Given the description of an element on the screen output the (x, y) to click on. 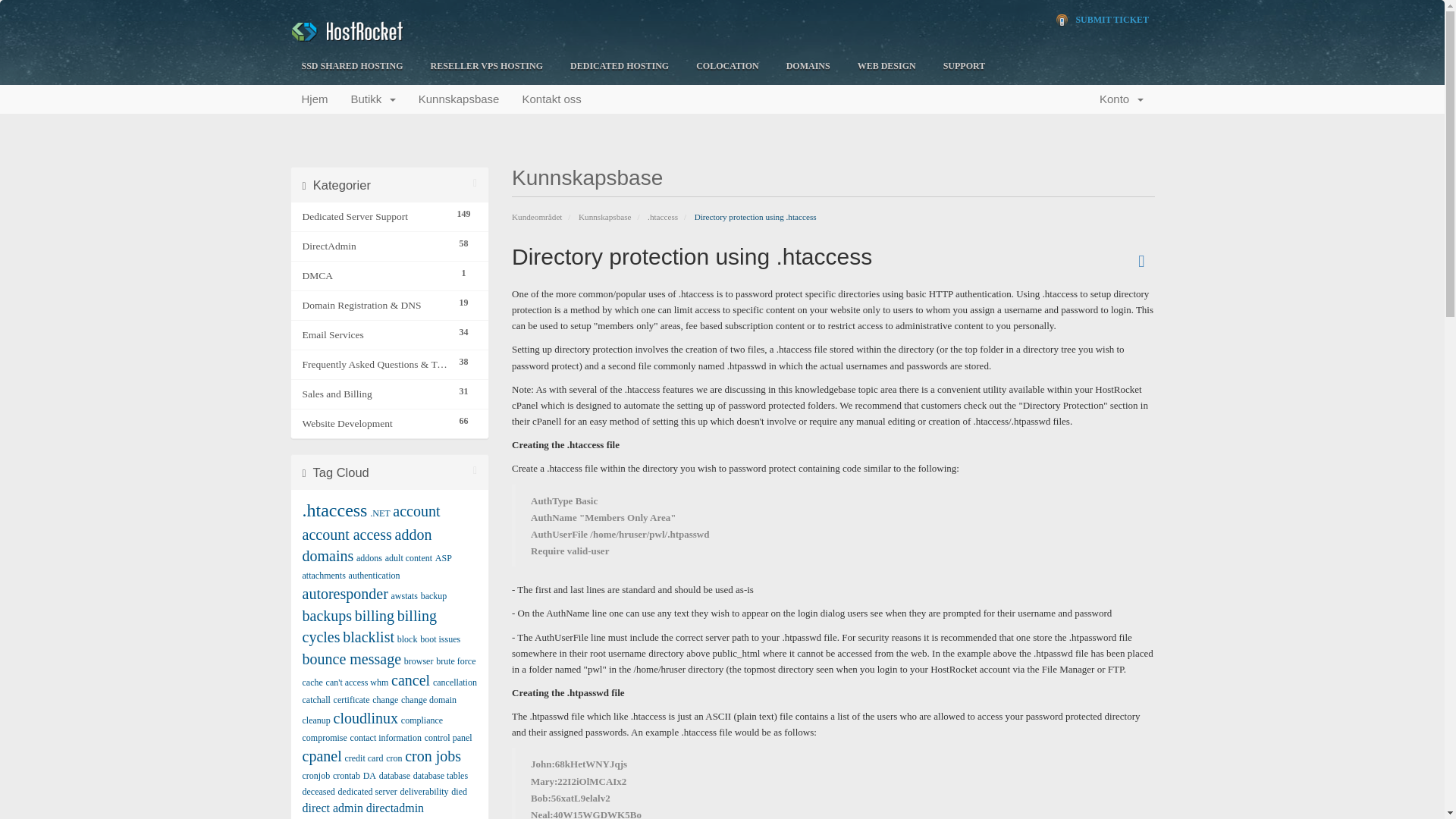
Email Services (375, 334)
RESELLER VPS HOSTING (487, 66)
Sales and Billing (375, 393)
Dedicated Server Support (375, 217)
DEDICATED HOSTING (619, 66)
Website Development (375, 423)
SSD SHARED HOSTING (352, 66)
SUBMIT TICKET (1102, 19)
DirectAdmin (375, 246)
DMCA (375, 275)
